Given the description of an element on the screen output the (x, y) to click on. 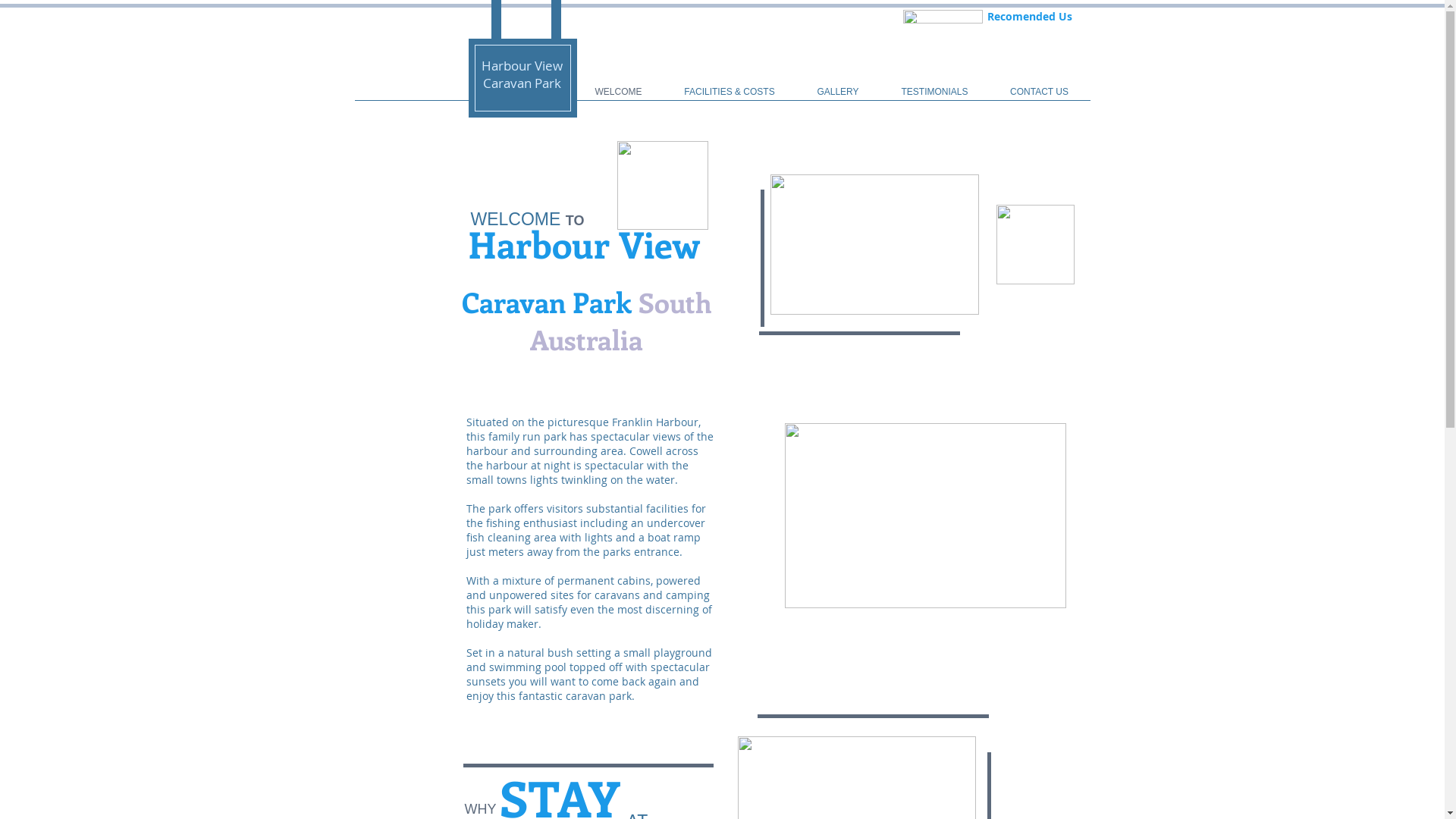
IMG_1996.JPG Element type: hover (924, 515)
TESTIMONIALS Element type: text (933, 91)
GALLERY Element type: text (838, 91)
Logo2.jpg Element type: hover (662, 185)
FACILITIES & COSTS Element type: text (728, 91)
DSCF1001.JPG Element type: hover (874, 244)
CONTACT US Element type: text (1038, 91)
WELCOME Element type: text (617, 91)
